Given the description of an element on the screen output the (x, y) to click on. 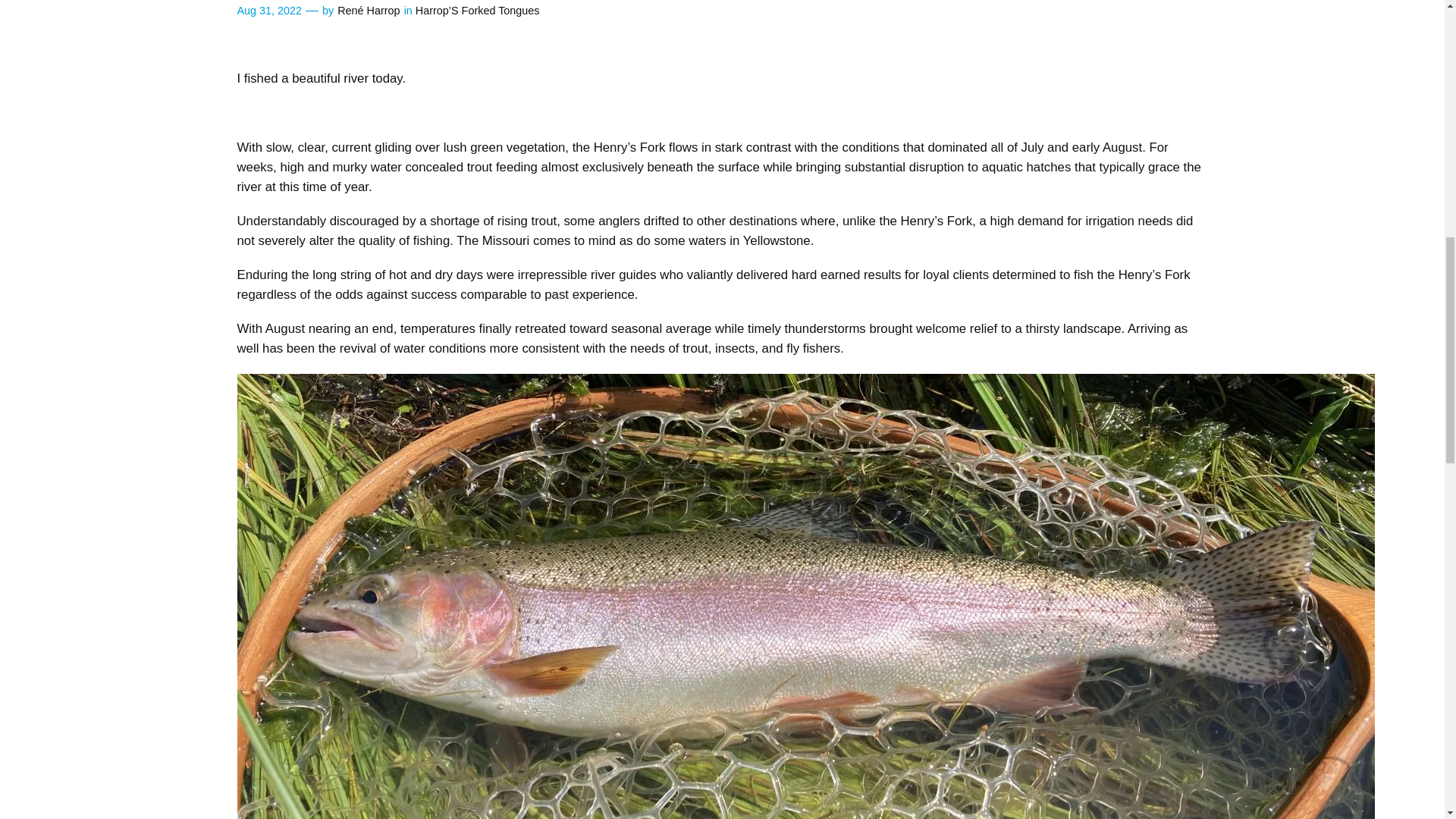
Aug 31, 2022 (268, 10)
